Given the description of an element on the screen output the (x, y) to click on. 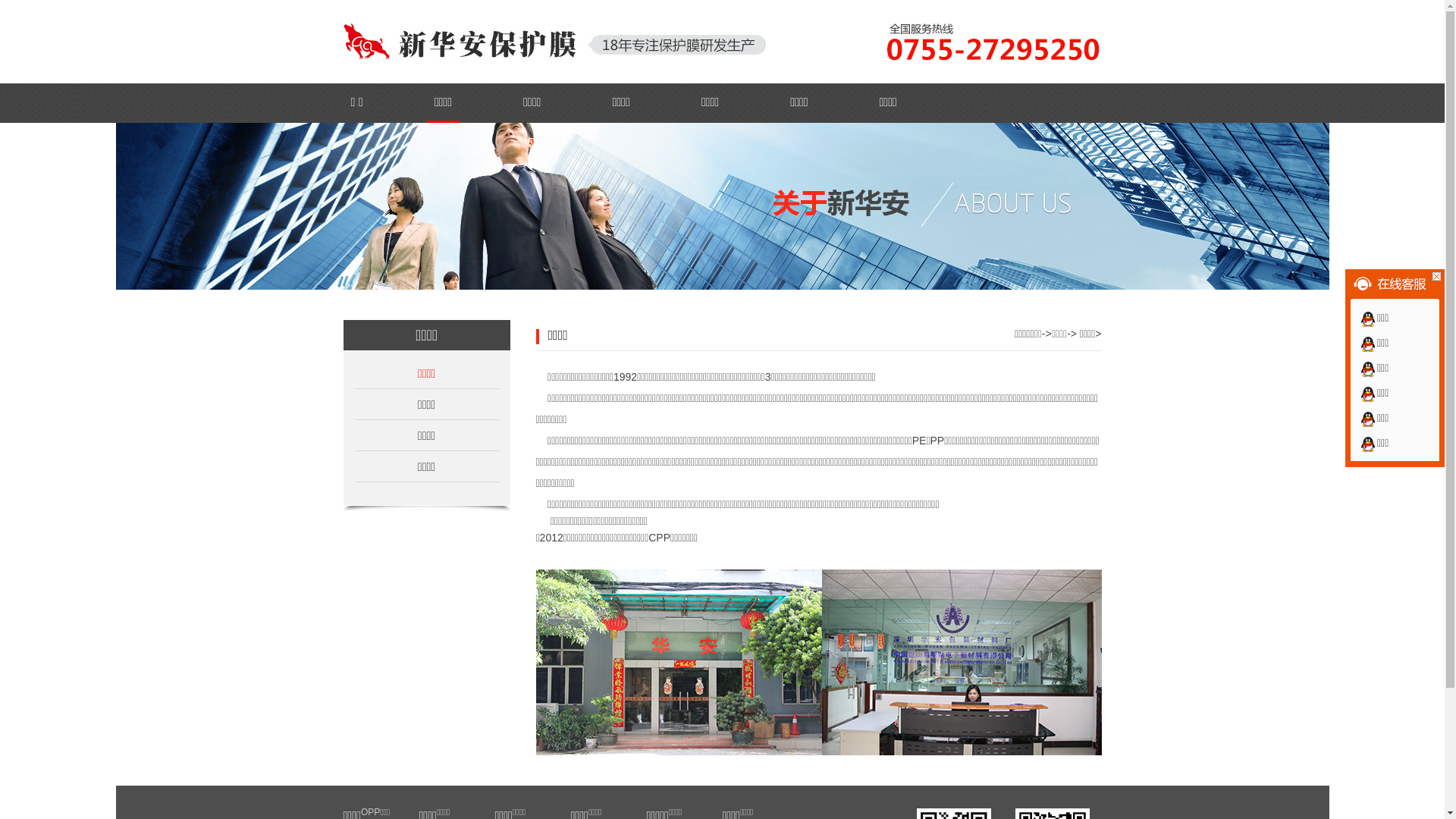
1.jpg Element type: hover (818, 662)
